Given the description of an element on the screen output the (x, y) to click on. 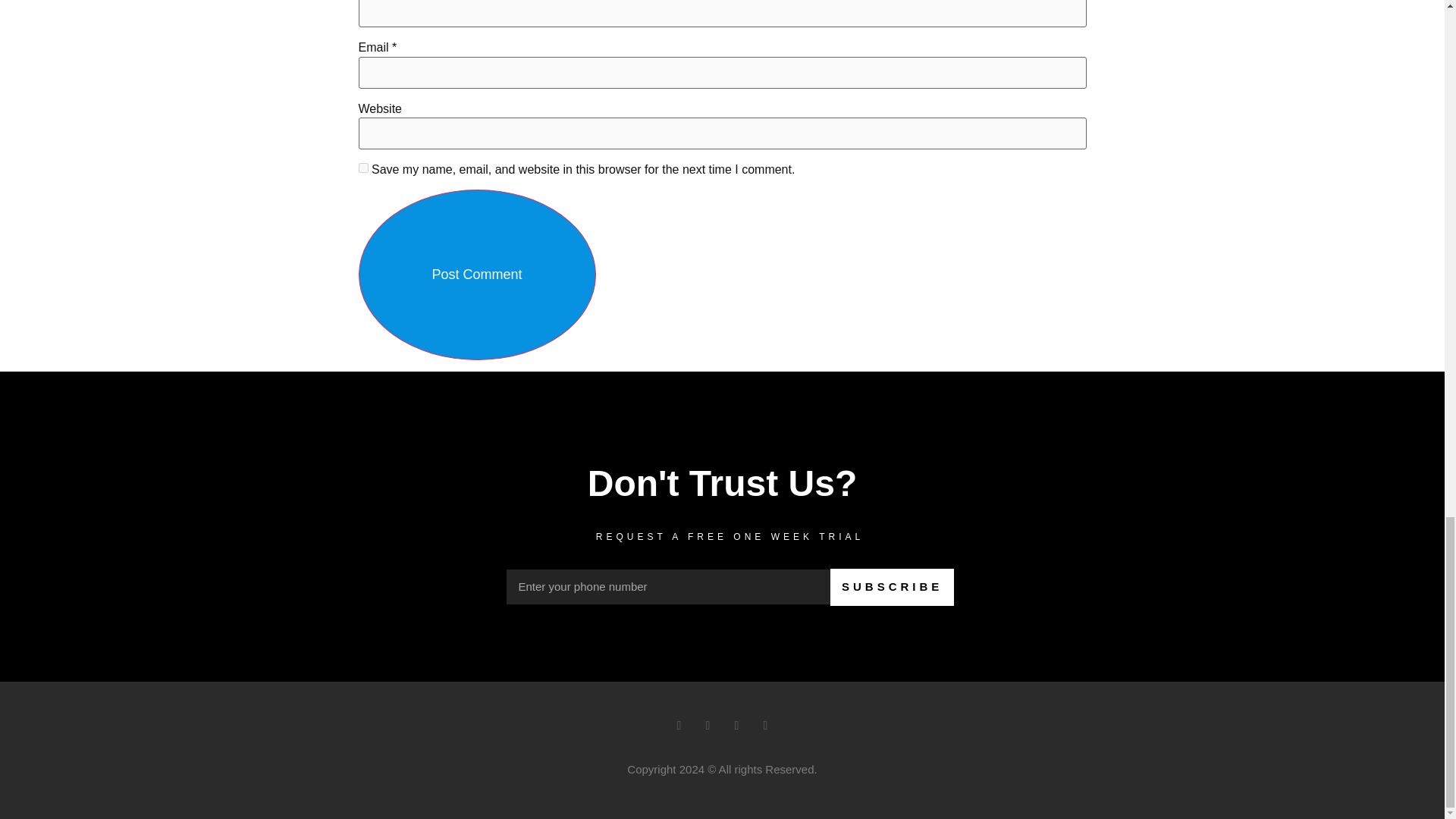
yes (363, 167)
Post Comment (476, 275)
SUBSCRIBE (891, 587)
Post Comment (476, 275)
